Given the description of an element on the screen output the (x, y) to click on. 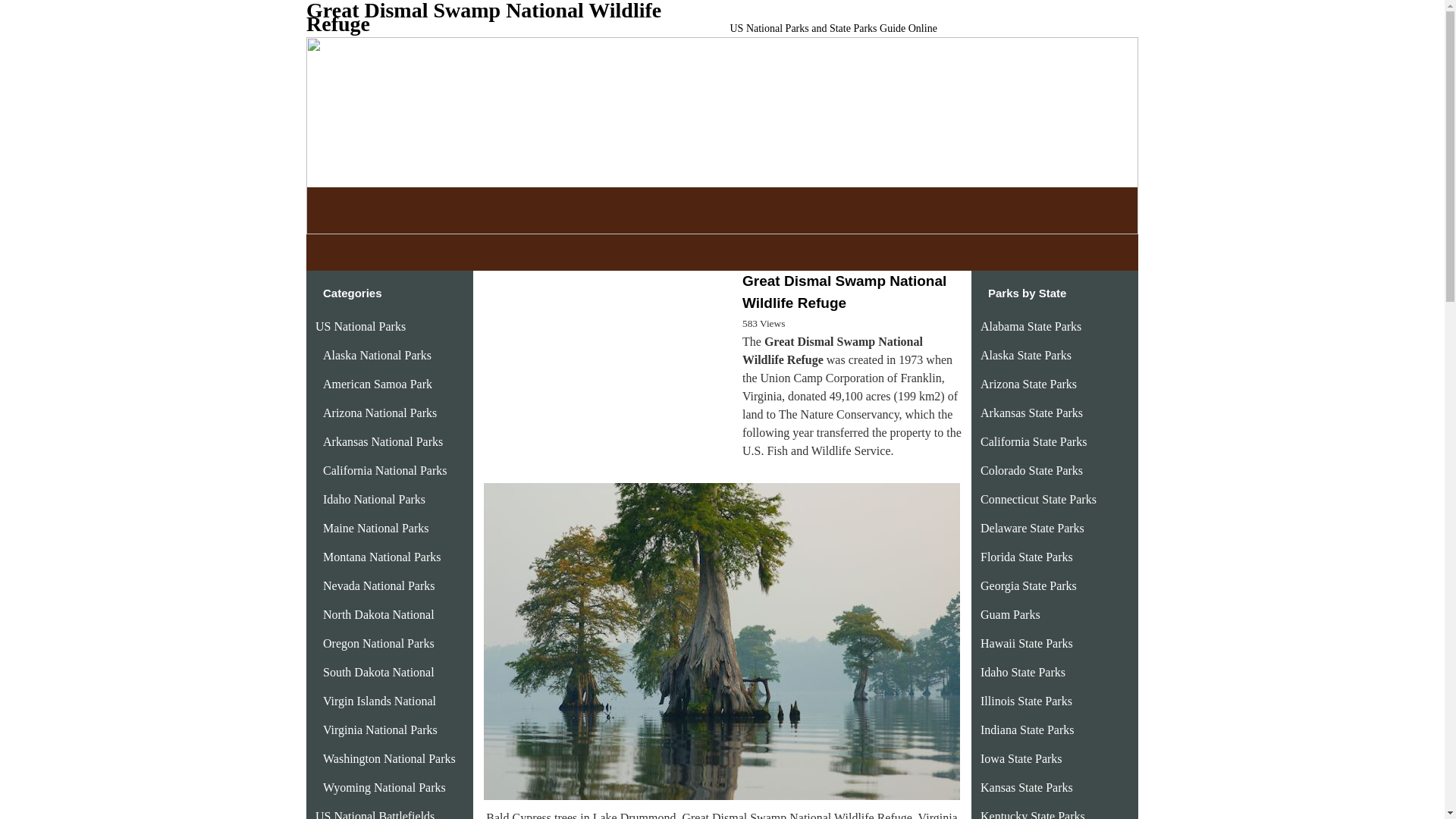
Oregon National Parks (378, 779)
California National Parks (384, 606)
South Dakota National (378, 808)
Connecticut State Parks (1037, 635)
Florida State Parks (1026, 693)
Alaska State Parks (1025, 491)
Delaware State Parks (1031, 664)
North Dakota National (378, 750)
Arizona National Parks (379, 549)
Arkansas State Parks (1031, 549)
